Given the description of an element on the screen output the (x, y) to click on. 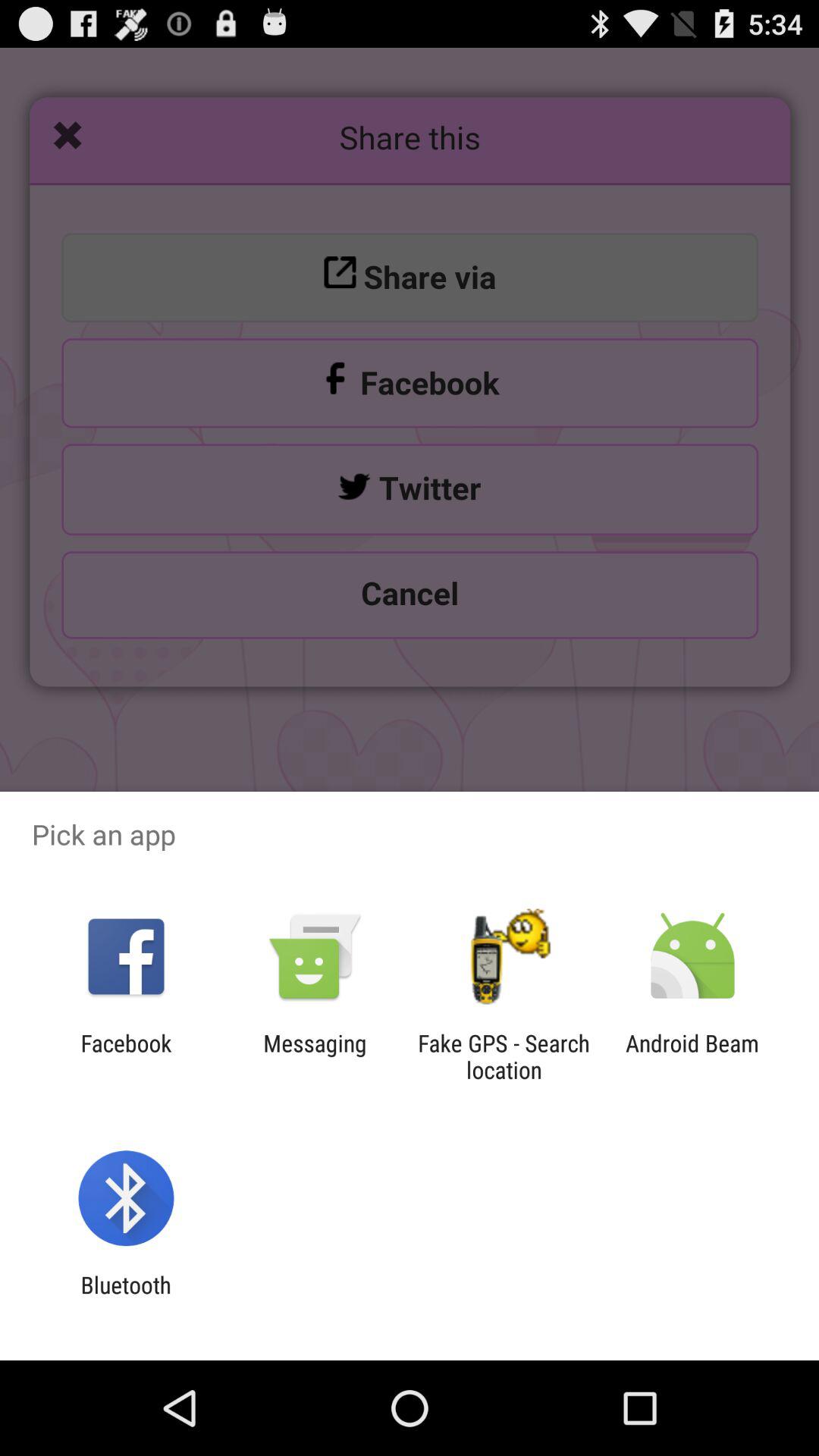
turn off the icon to the right of the facebook (314, 1056)
